Given the description of an element on the screen output the (x, y) to click on. 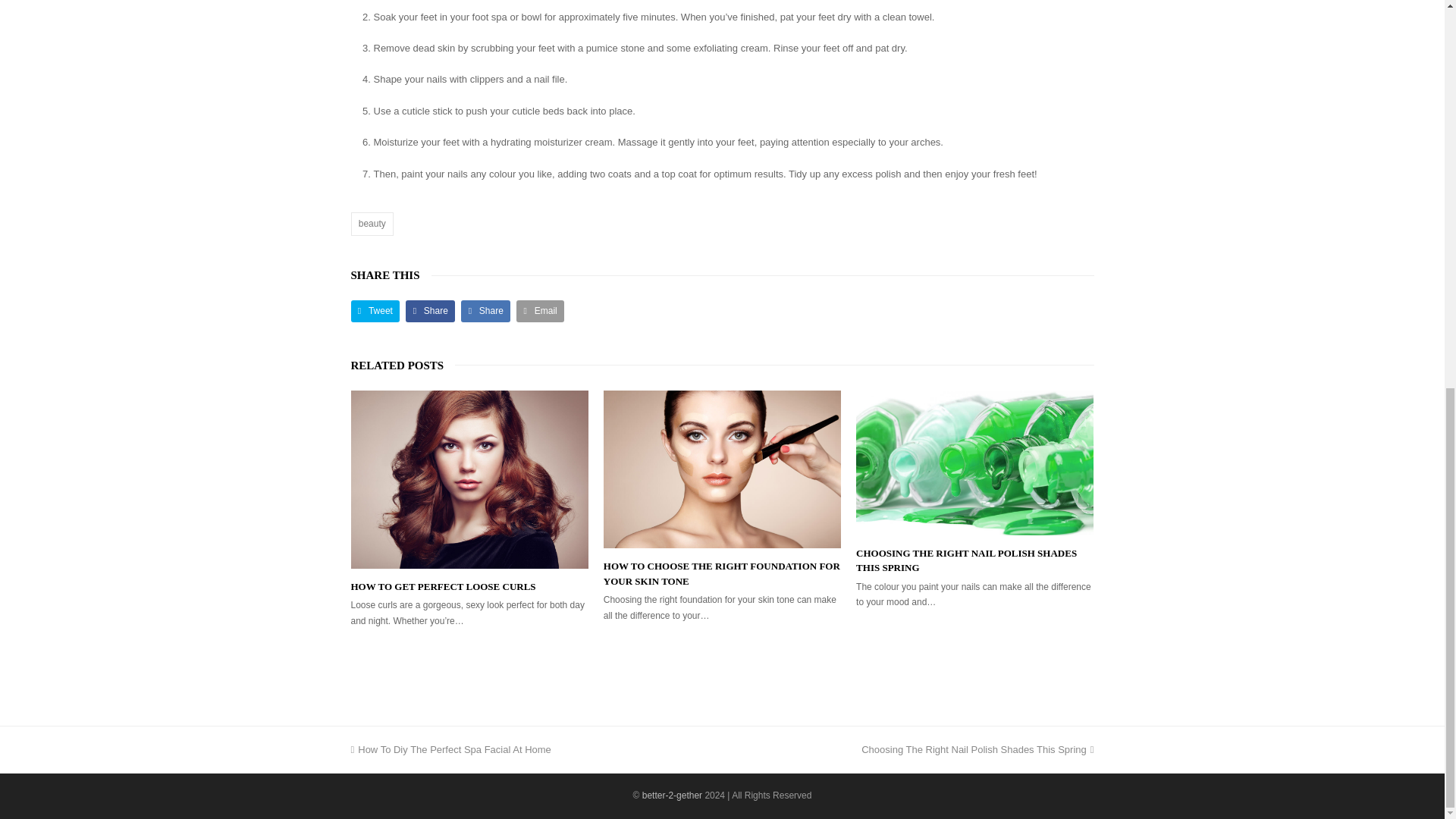
Share (977, 749)
Tweet (486, 311)
How To Get Perfect Loose Curls (450, 749)
How To Choose The Right Foundation For Your Skin Tone (374, 311)
Share (469, 479)
HOW TO CHOOSE THE RIGHT FOUNDATION FOR YOUR SKIN TONE (722, 469)
Email (430, 311)
better-2-gether (722, 573)
